Given the description of an element on the screen output the (x, y) to click on. 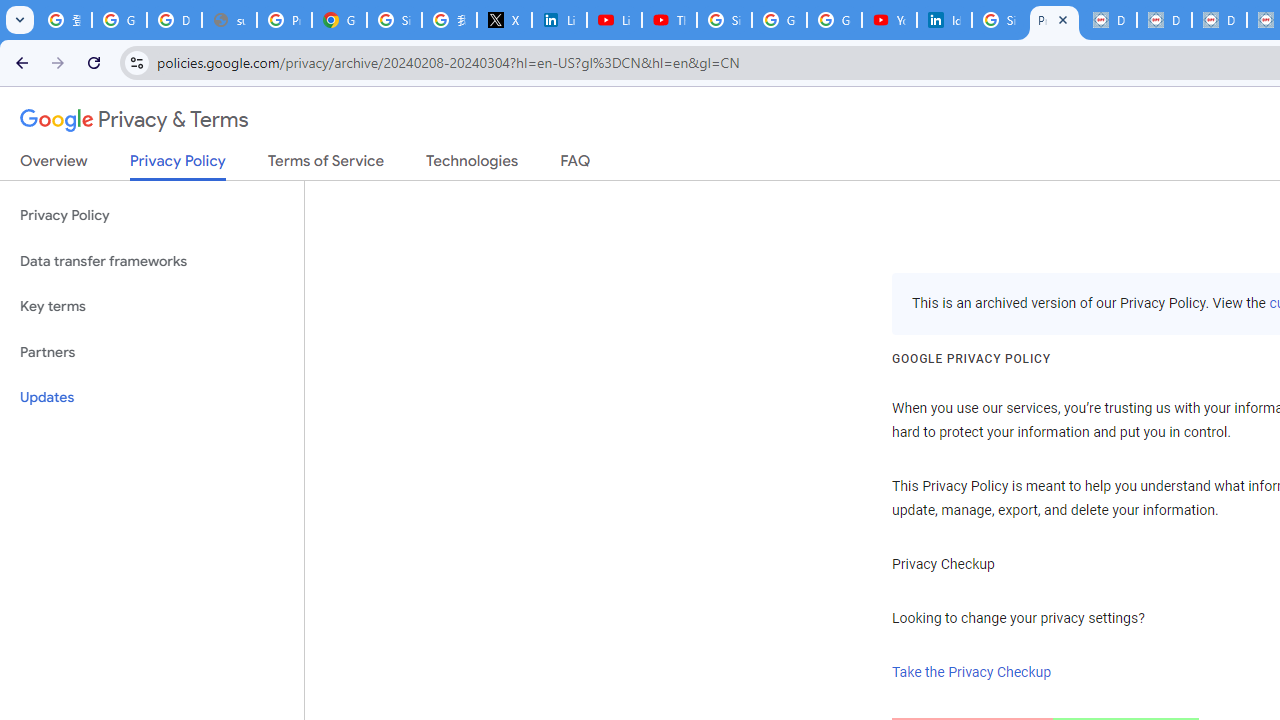
Take the Privacy Checkup (972, 672)
Data Privacy Framework (1108, 20)
X (504, 20)
